Given the description of an element on the screen output the (x, y) to click on. 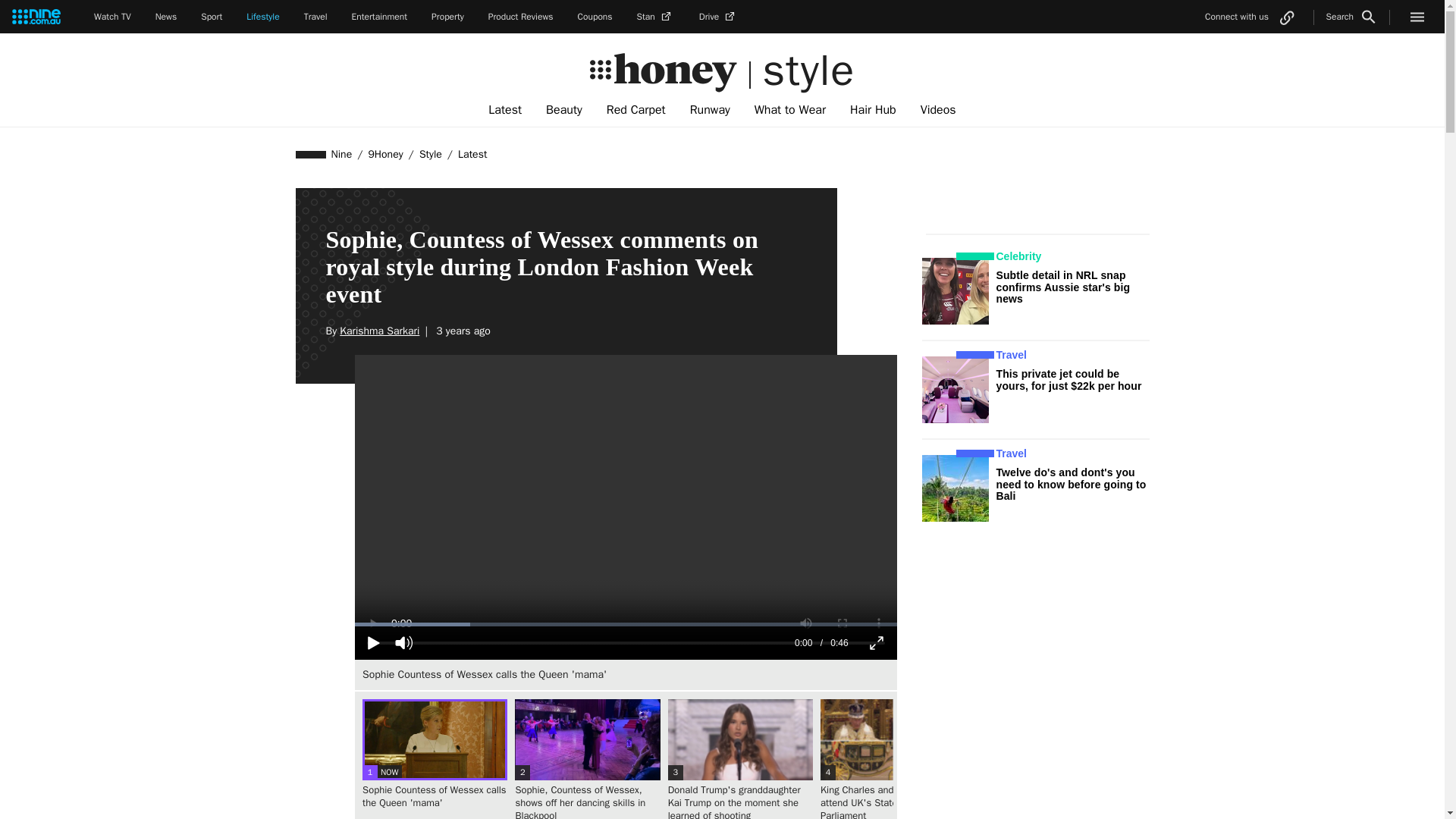
2021-02-24 18:16 (460, 330)
Mute (403, 643)
Coupons (595, 16)
Karishma Sarkari (379, 330)
Style (429, 154)
Beauty (564, 109)
Latest (505, 109)
Fullscreen (876, 643)
Entertainment (379, 16)
What to Wear (790, 109)
Lifestyle (262, 16)
Latest (472, 154)
Runway (710, 109)
Hair Hub (873, 109)
Drive (718, 16)
